Given the description of an element on the screen output the (x, y) to click on. 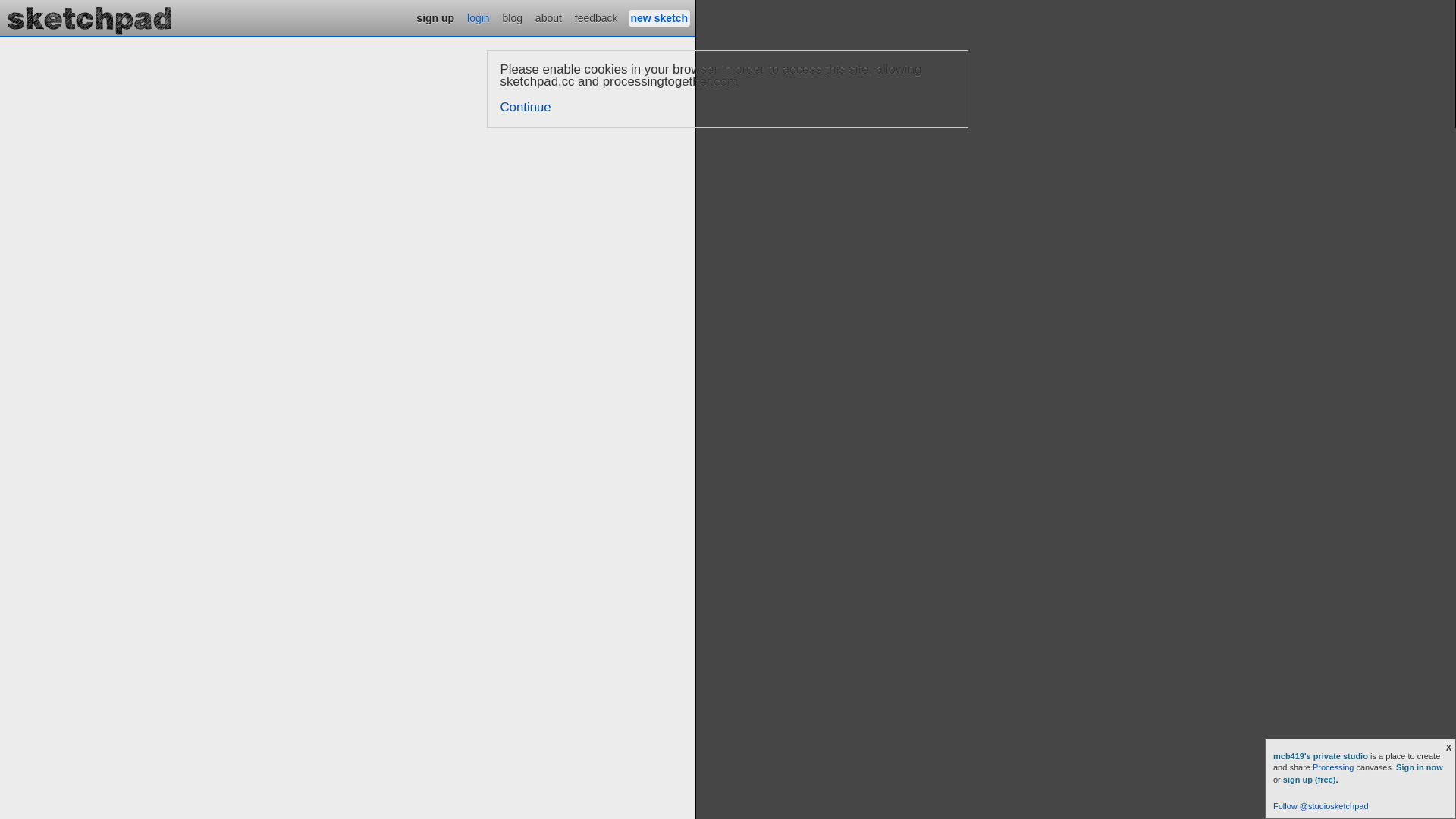
sign up (free) Element type: text (1309, 779)
blog Element type: text (512, 17)
sign up Element type: text (435, 17)
new sketch Element type: text (659, 17)
Continue Element type: text (525, 107)
login Element type: text (478, 17)
feedback Element type: text (596, 17)
about Element type: text (548, 17)
Follow @studiosketchpad Element type: text (1320, 805)
Studio Sketchpad is Processing on Etherpad Element type: hover (90, 18)
Sign in now Element type: text (1419, 766)
Processing Element type: text (1332, 766)
mcb419's private studio Element type: text (1321, 755)
